Given the description of an element on the screen output the (x, y) to click on. 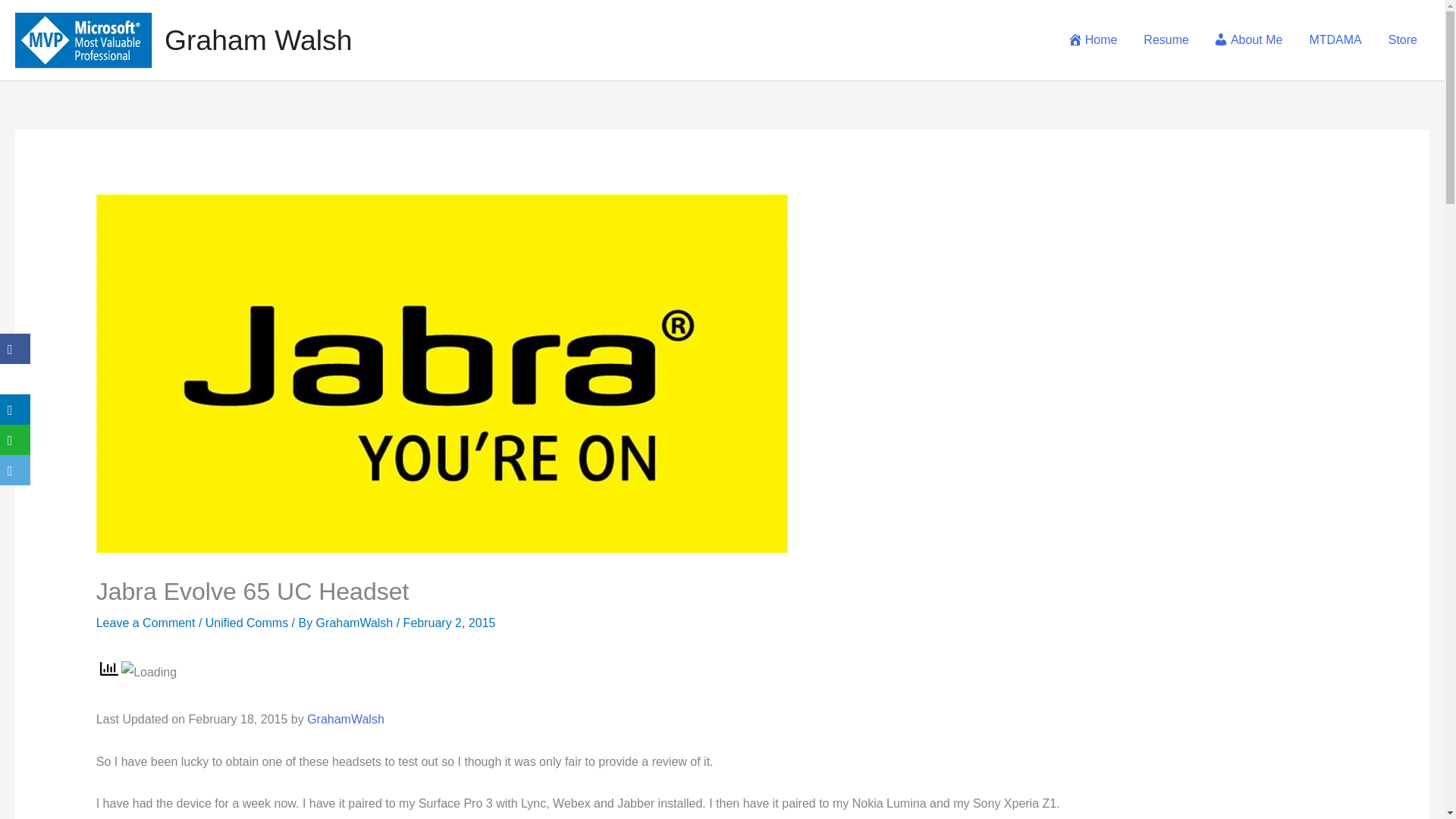
View all posts by GrahamWalsh (355, 622)
Resume (1165, 39)
GrahamWalsh (345, 718)
Unified Comms (246, 622)
GrahamWalsh (355, 622)
About Me (1247, 39)
Store (1401, 39)
Leave a Comment (145, 622)
Graham Walsh (258, 40)
MTDAMA (1333, 39)
Home (1092, 39)
